Given the description of an element on the screen output the (x, y) to click on. 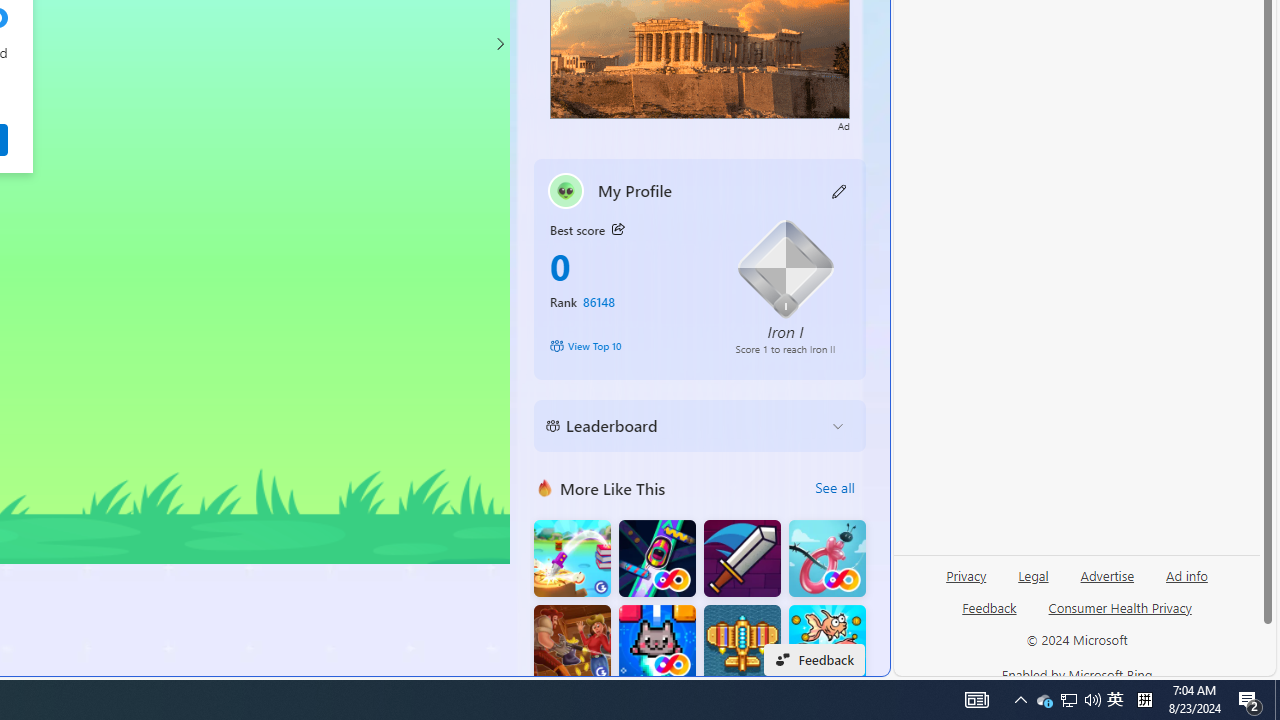
Fish Merge FRVR (827, 643)
More Like This (544, 487)
Saloon Robbery (571, 643)
Class: control (499, 43)
Atlantic Sky Hunter (742, 643)
Knife Flip (571, 558)
Leaderboard (683, 425)
